Given the description of an element on the screen output the (x, y) to click on. 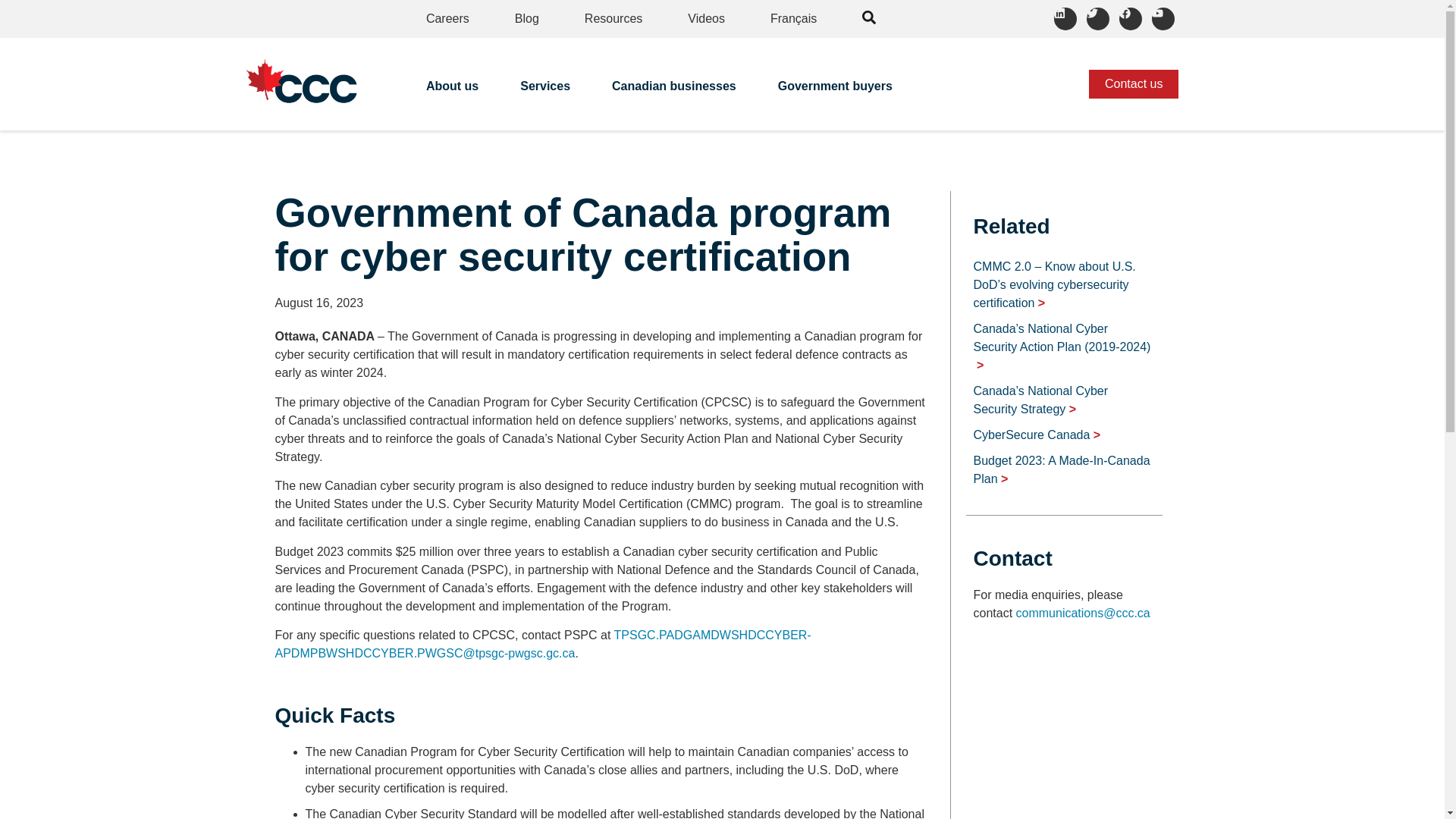
Resources (613, 18)
Services (546, 90)
Videos (706, 18)
Canadian businesses (675, 90)
About us (453, 90)
Careers (447, 18)
search (868, 17)
